Given the description of an element on the screen output the (x, y) to click on. 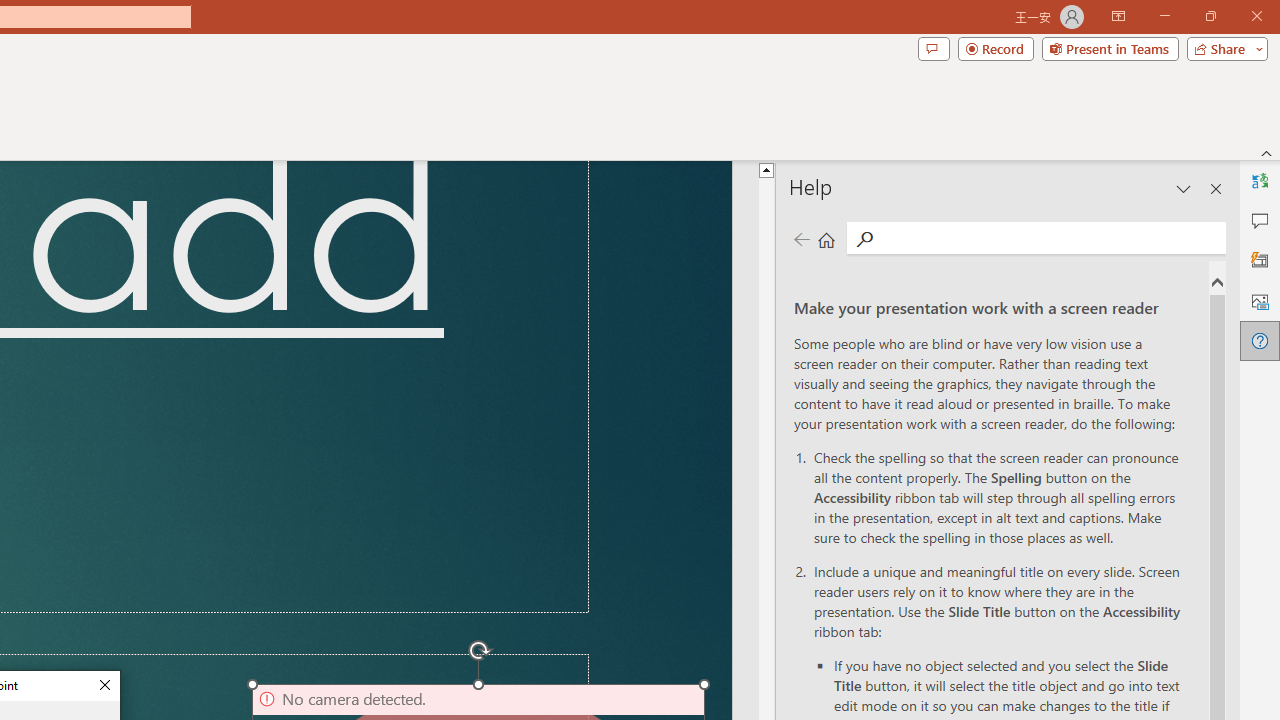
Previous page (801, 238)
